Given the description of an element on the screen output the (x, y) to click on. 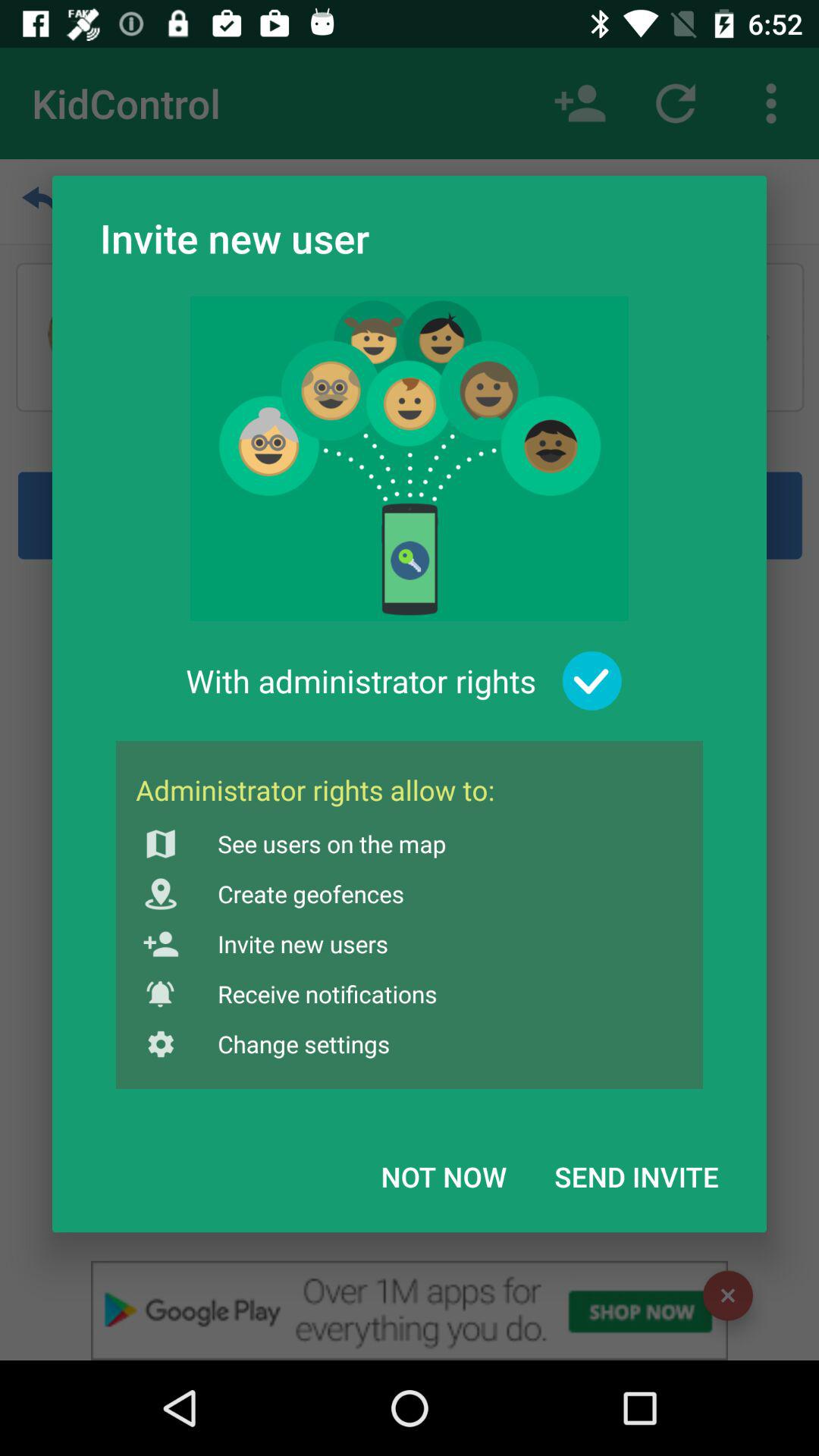
launch icon below the change settings item (443, 1176)
